Given the description of an element on the screen output the (x, y) to click on. 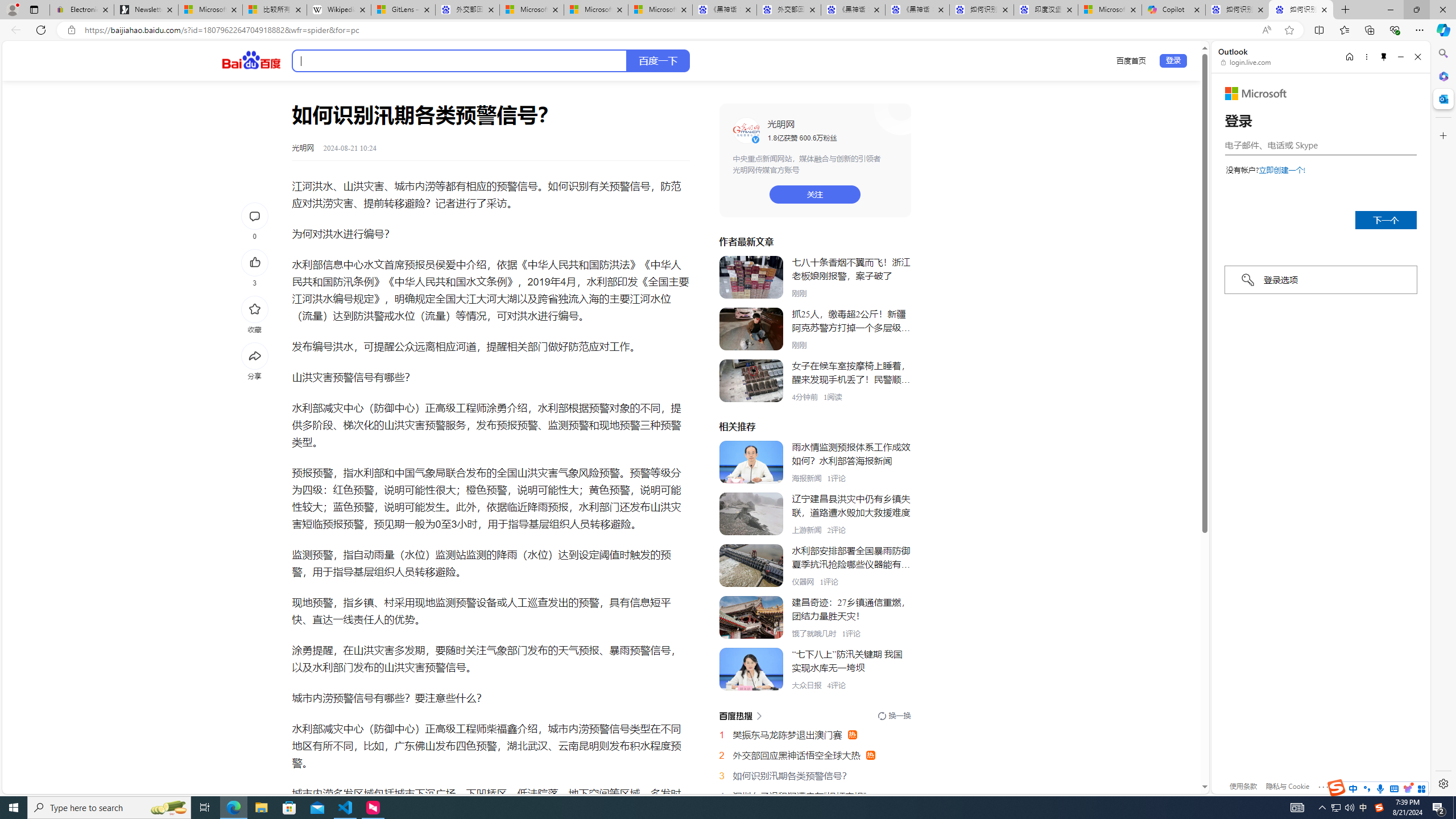
Newsletter Sign Up (146, 9)
